Given the description of an element on the screen output the (x, y) to click on. 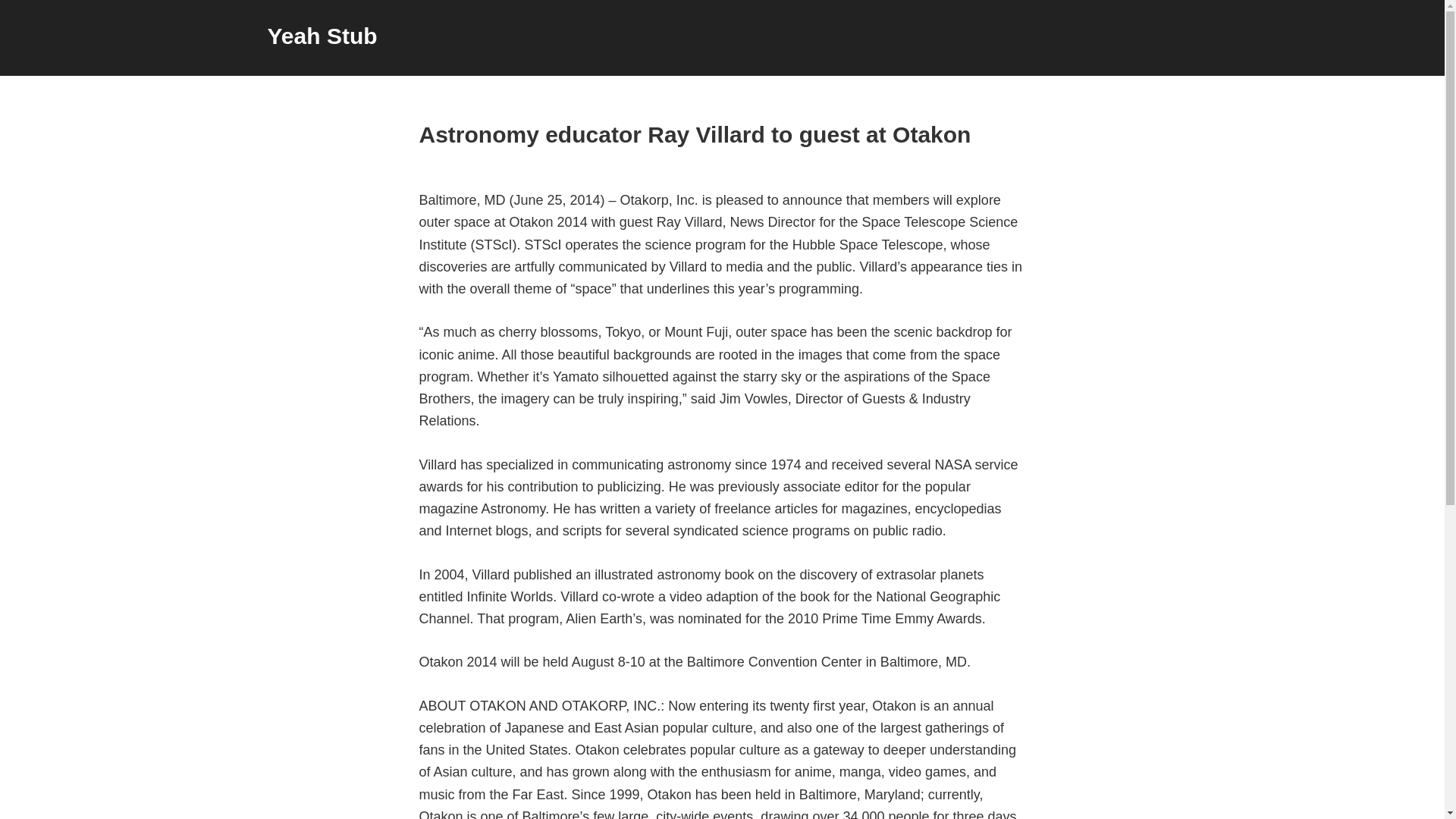
Yeah Stub (321, 35)
